Given the description of an element on the screen output the (x, y) to click on. 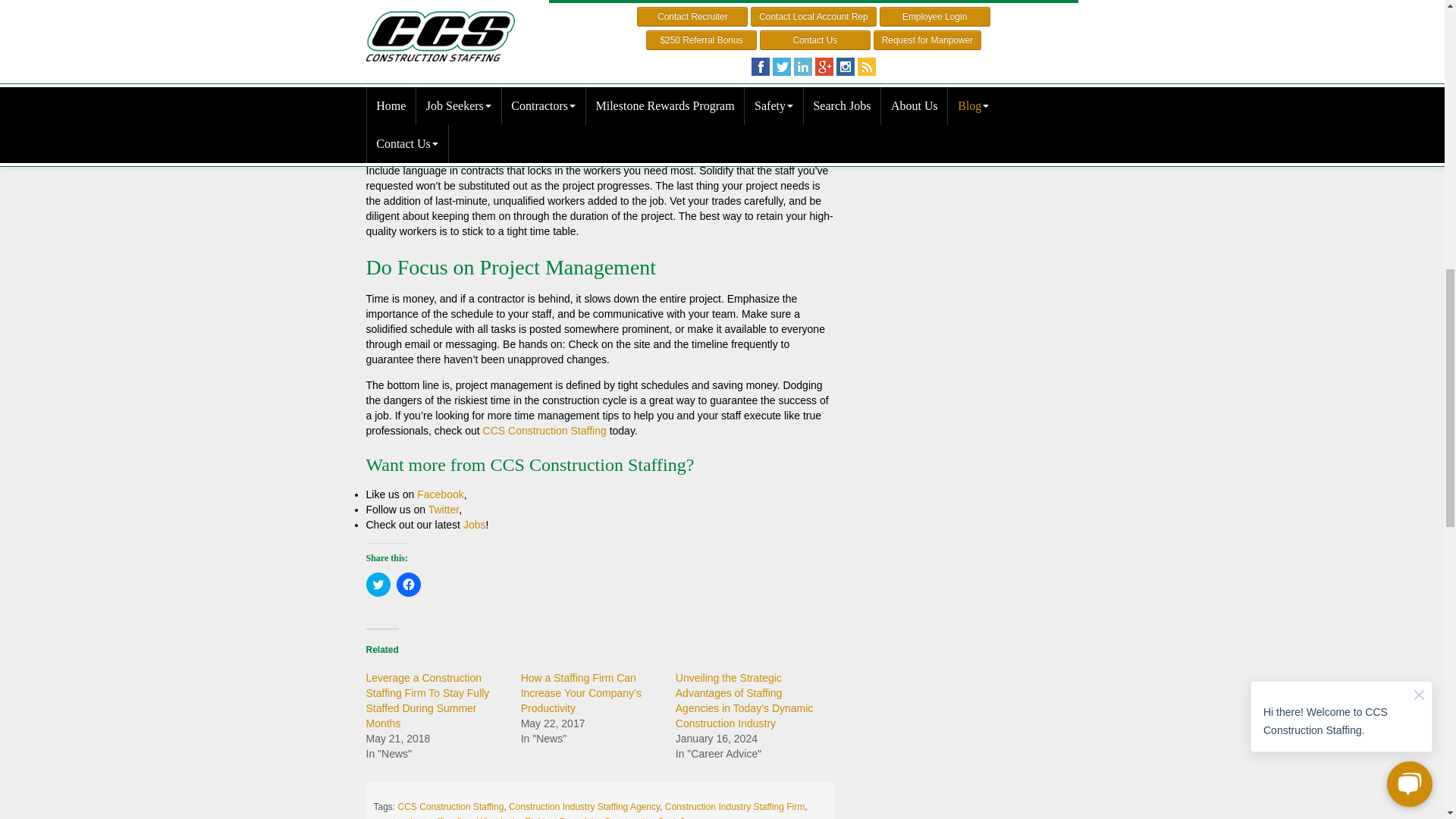
Facebook (439, 494)
CCS Construction Staffing (545, 430)
Click to share on Twitter (377, 584)
Twitter (443, 509)
Click to share on Facebook (408, 584)
Jobs (474, 524)
